Given the description of an element on the screen output the (x, y) to click on. 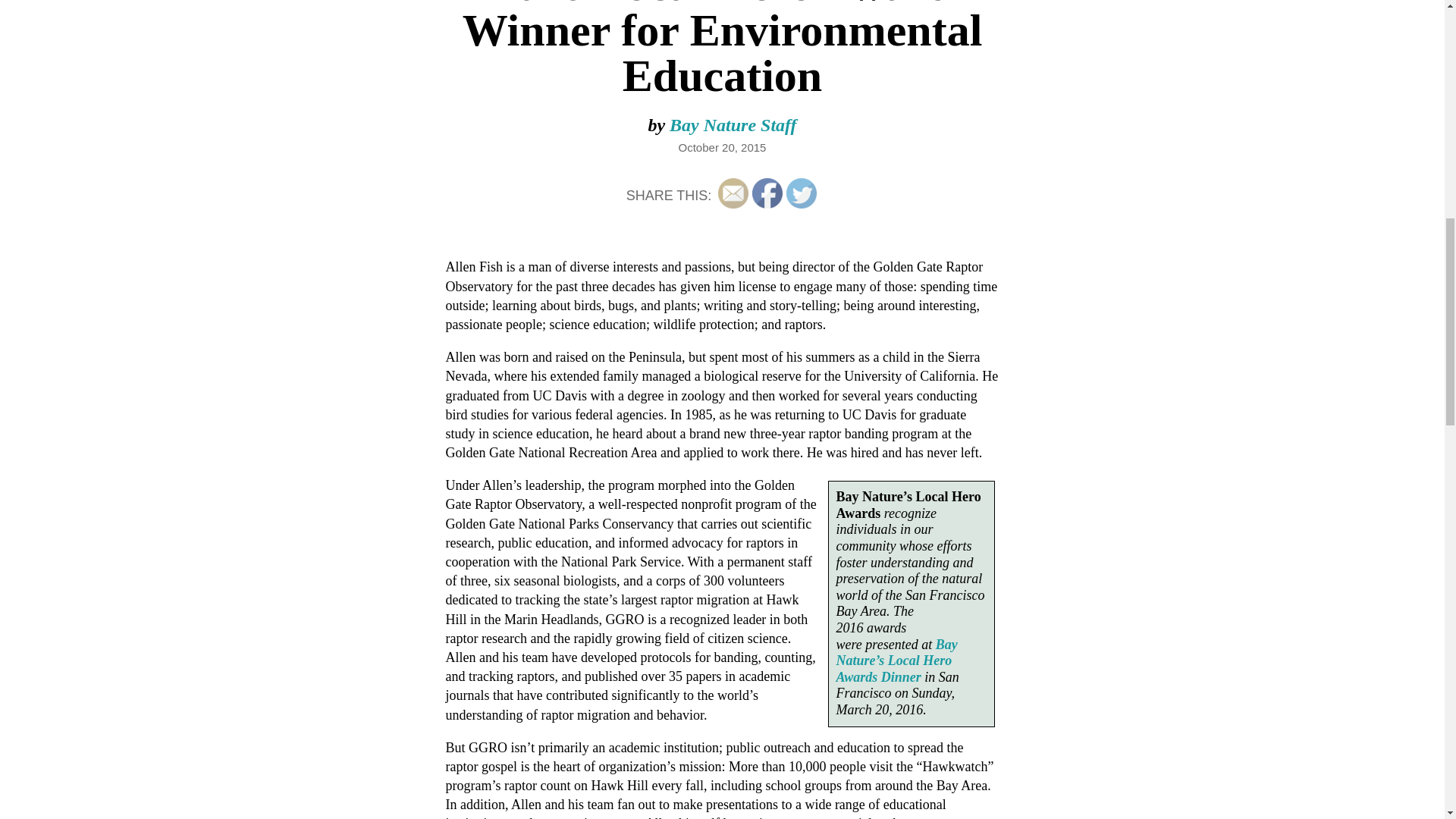
Follow by Email (732, 193)
Twitter (801, 193)
Facebook (767, 193)
Bay Nature Staff (732, 125)
Posts by Bay Nature Staff (732, 125)
